Given the description of an element on the screen output the (x, y) to click on. 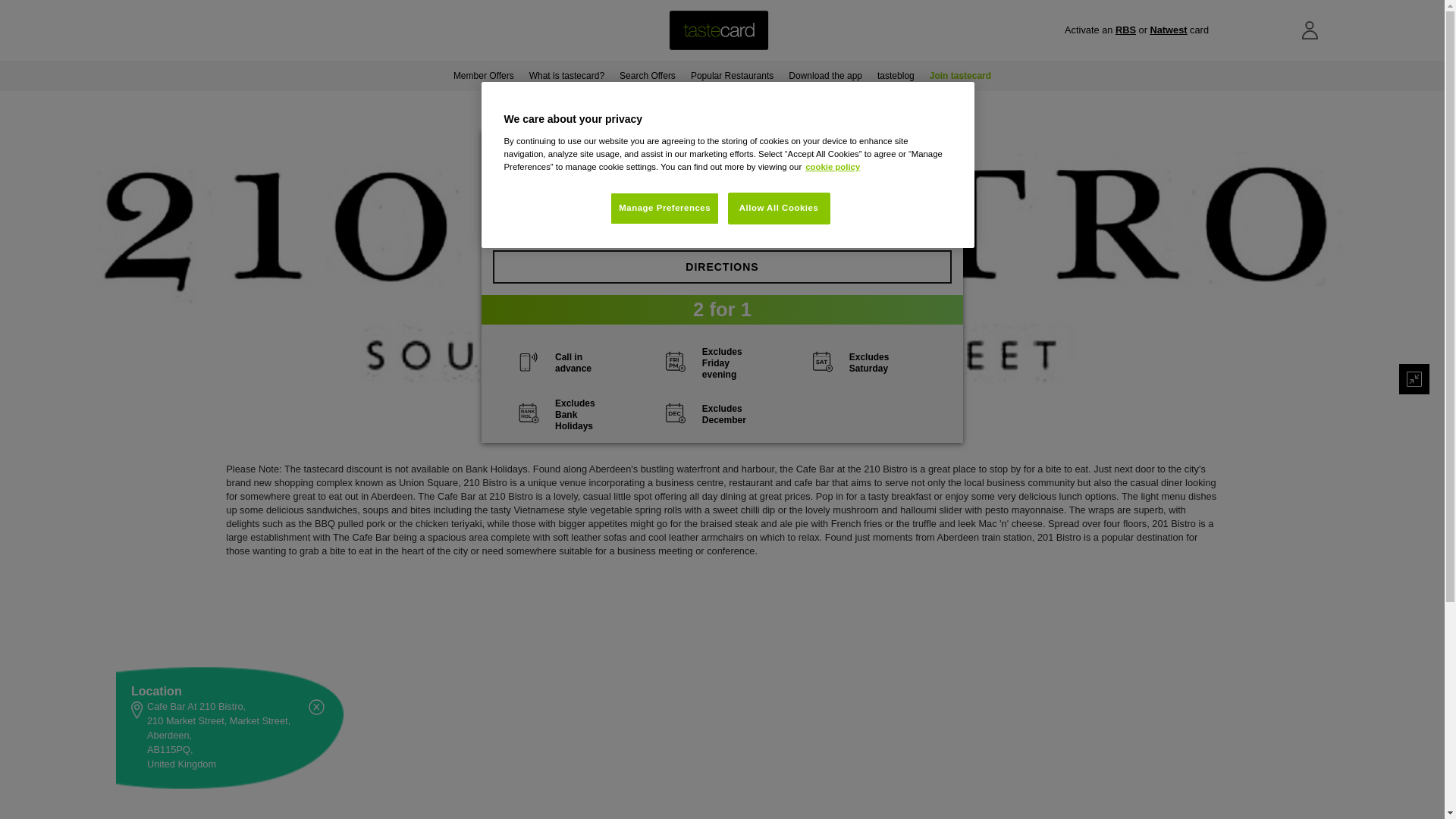
Popular Restaurants (731, 75)
Download the app (824, 75)
RBS (1125, 30)
What is tastecard? (566, 75)
Search Offers (646, 75)
Natwest (1168, 30)
DIRECTIONS (722, 266)
Join tastecard (959, 75)
Member Offers (483, 75)
01224 211 857 (729, 205)
tasteblog (895, 75)
